Given the description of an element on the screen output the (x, y) to click on. 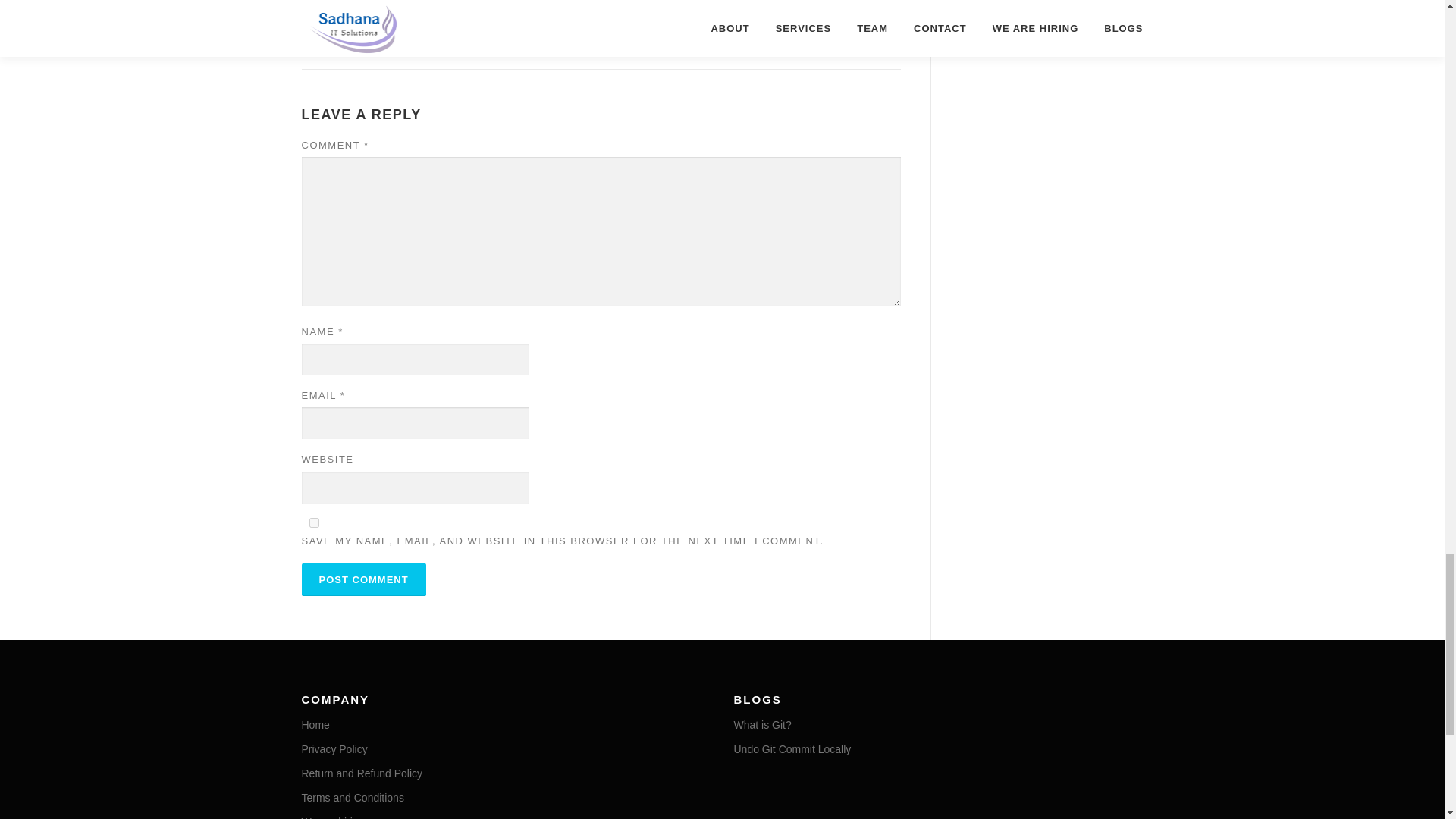
Home (315, 725)
Privacy Policy (334, 748)
We are hiring (333, 817)
Return and Refund Policy (362, 773)
Post Comment (363, 579)
COMMIT (371, 37)
What is Git? (762, 725)
Post Comment (363, 579)
Undo Git Commit Locally (792, 748)
LINUX (579, 37)
PULL (617, 37)
GIT (408, 37)
PUSH (654, 37)
Terms and Conditions (352, 797)
GIT STATUS (524, 37)
